Given the description of an element on the screen output the (x, y) to click on. 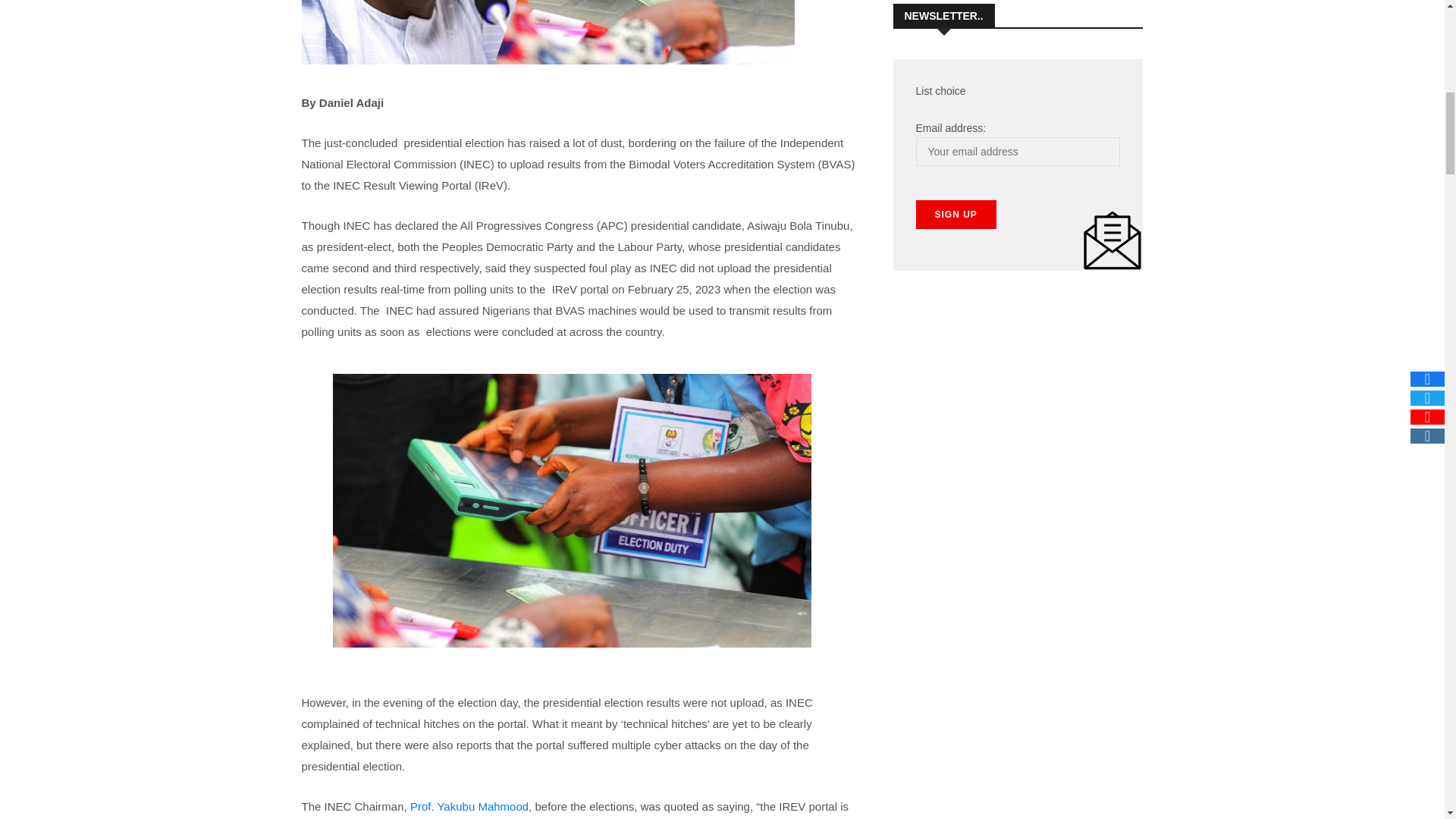
Sign up (955, 214)
Prof. Yakubu Mahmood (469, 806)
